Given the description of an element on the screen output the (x, y) to click on. 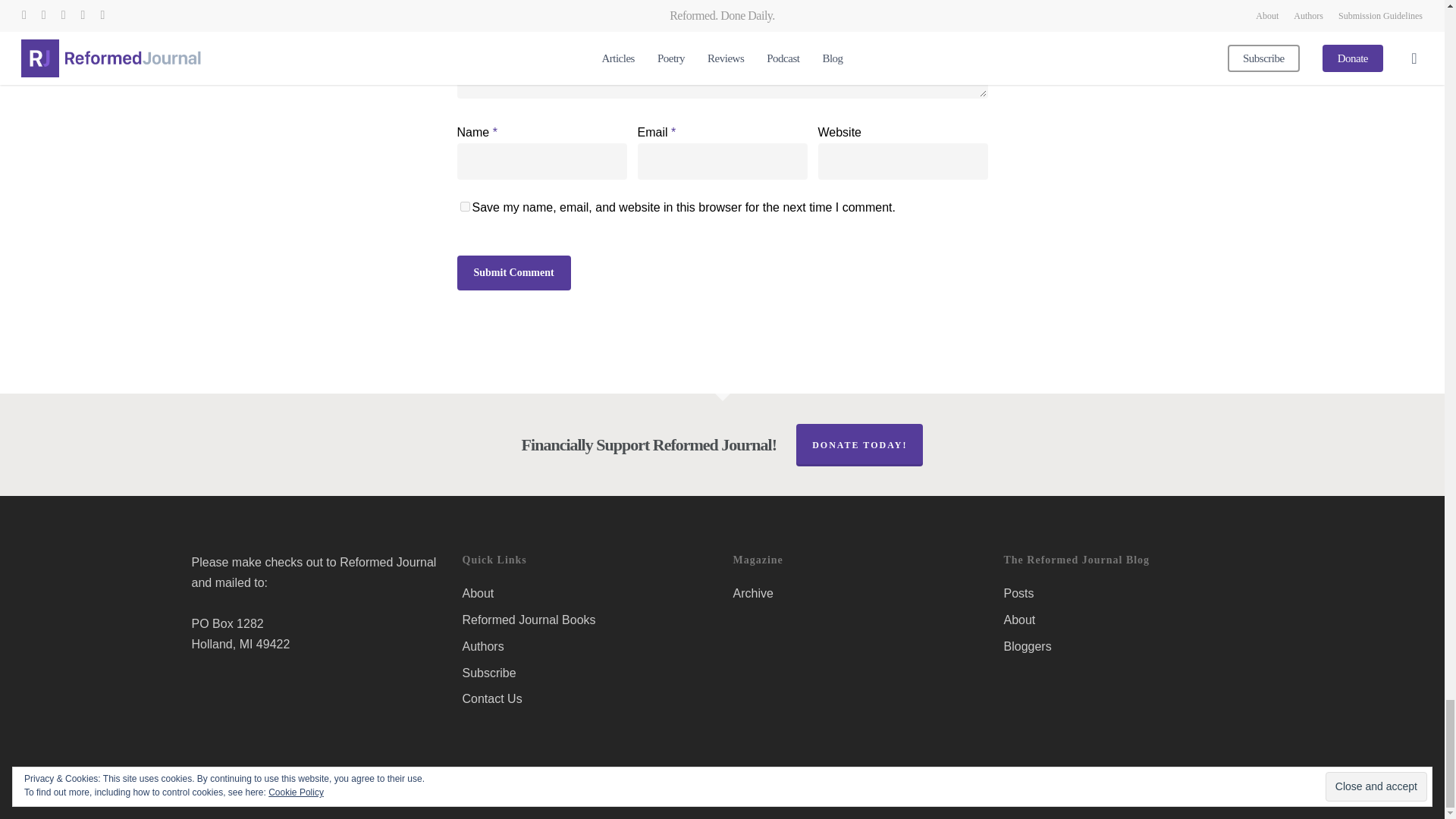
Submit Comment (513, 272)
yes (464, 206)
